Given the description of an element on the screen output the (x, y) to click on. 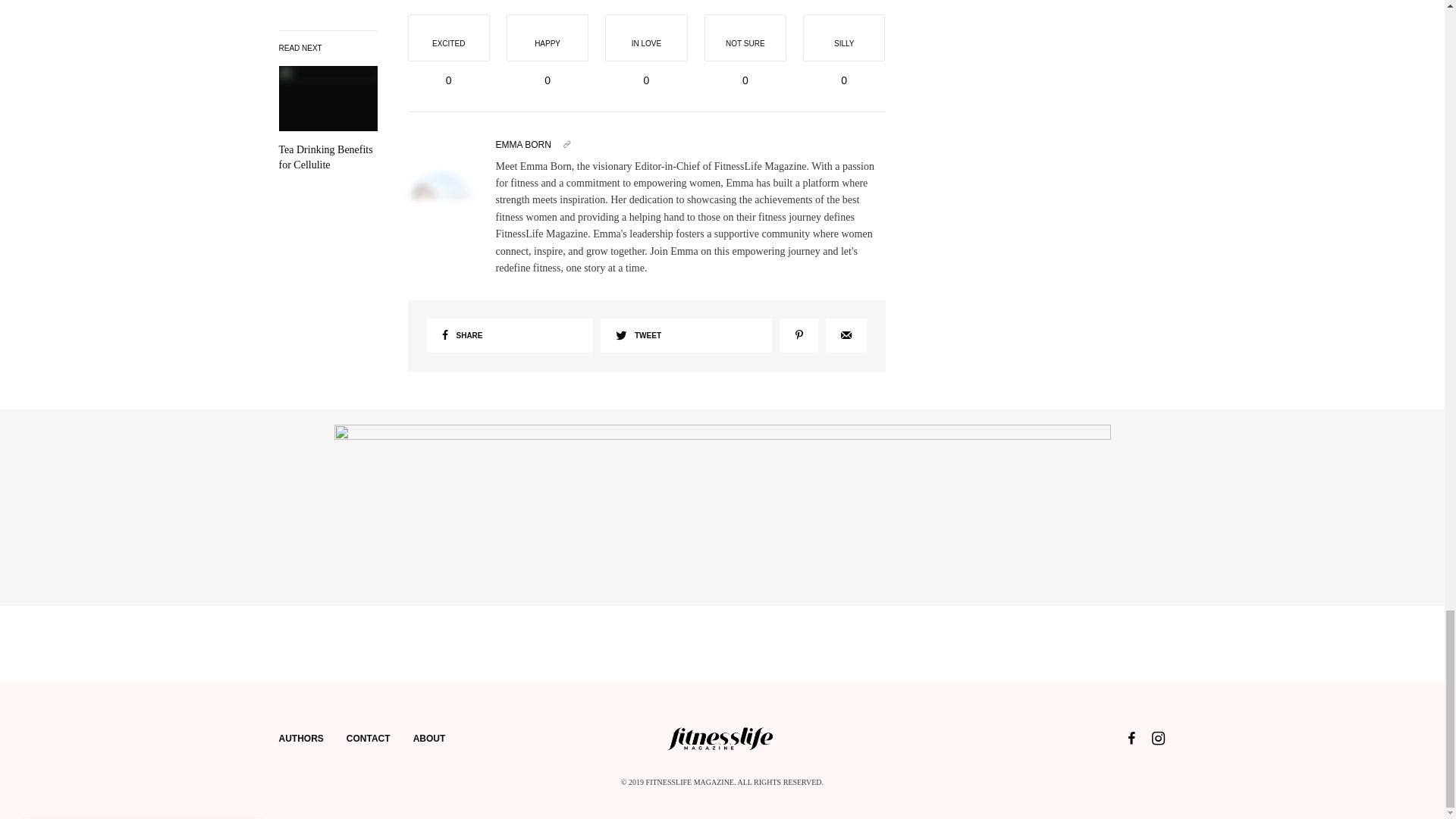
EMMA BORN (523, 144)
SHARE (509, 335)
